Given the description of an element on the screen output the (x, y) to click on. 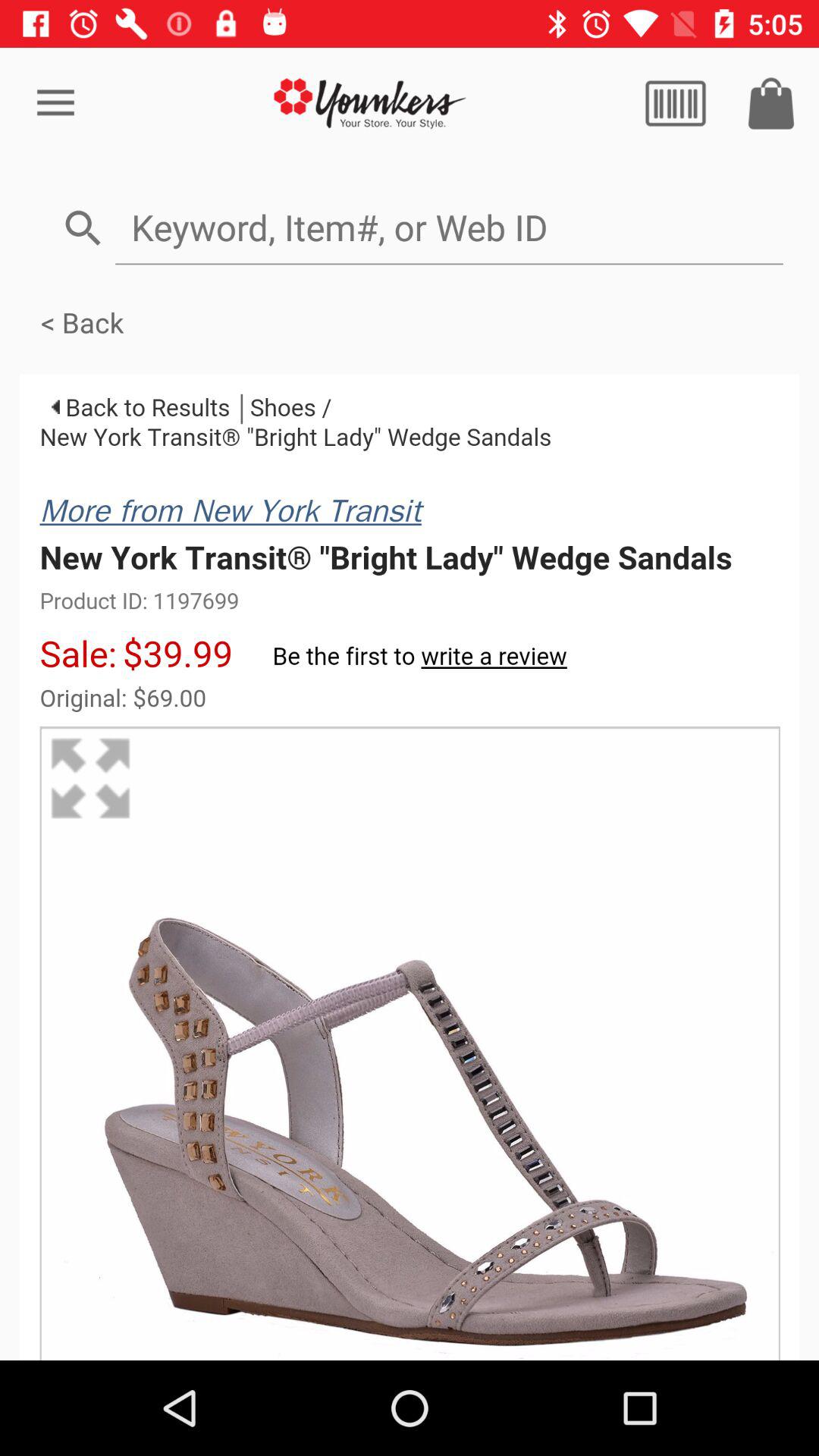
purchase the item (771, 103)
